Given the description of an element on the screen output the (x, y) to click on. 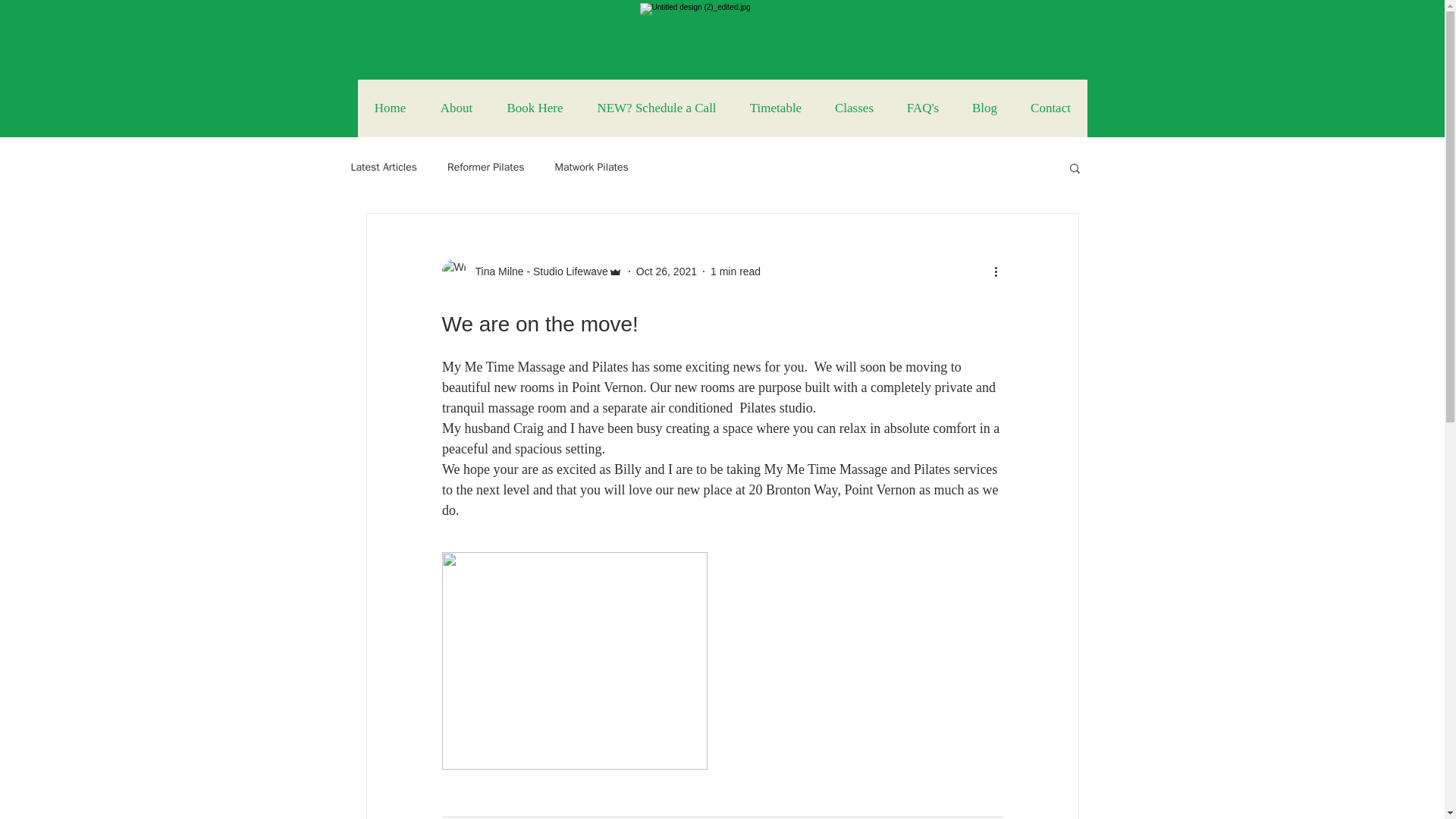
Matwork Pilates (591, 167)
Tina Milne - Studio Lifewave (536, 271)
FAQ's (922, 108)
1 min read (735, 271)
Contact (1049, 108)
Timetable (774, 108)
Blog (984, 108)
NEW? Schedule a Call (655, 108)
Home (390, 108)
Oct 26, 2021 (666, 271)
